Given the description of an element on the screen output the (x, y) to click on. 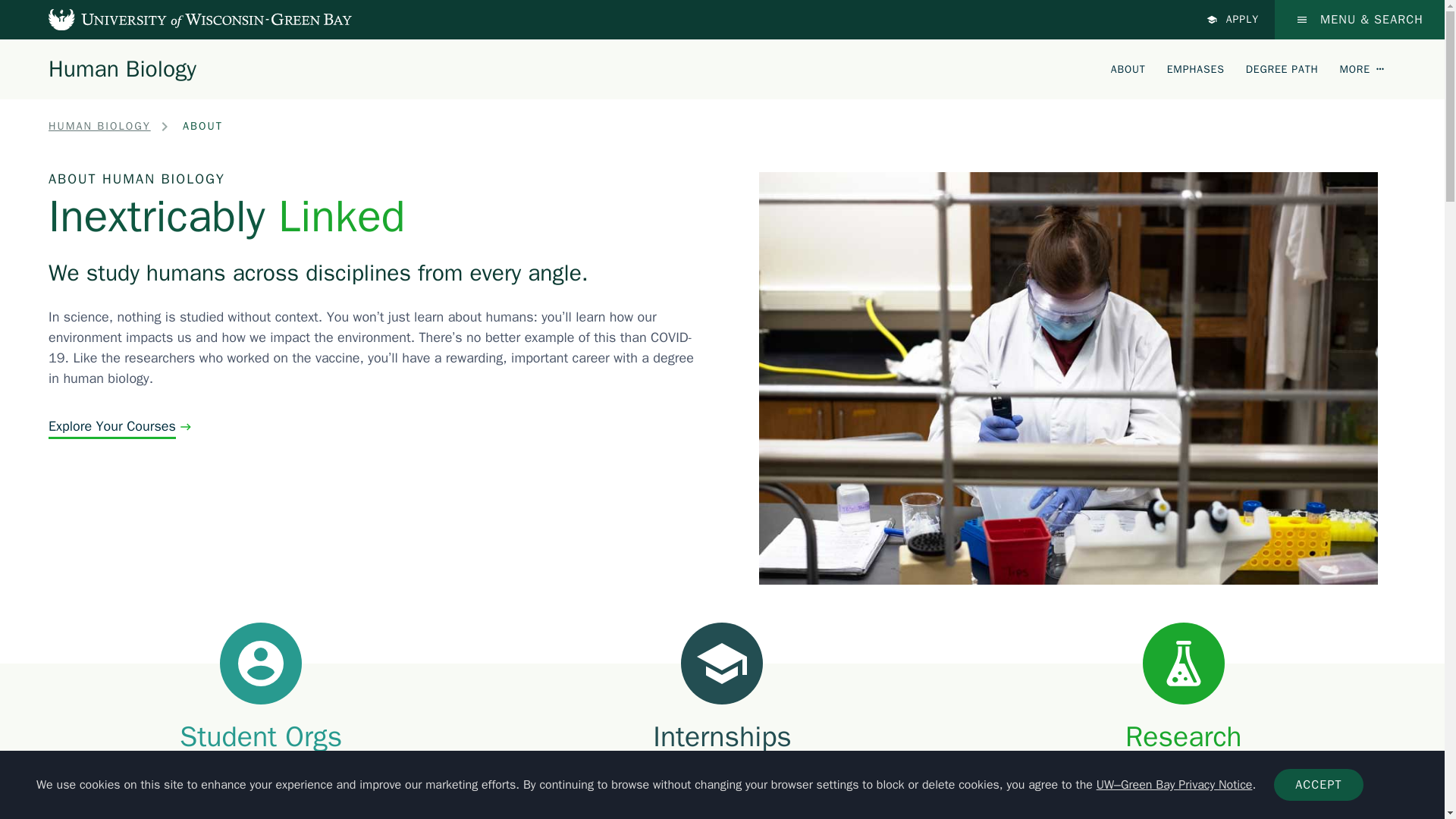
DEGREE PATH (1282, 68)
ABOUT (1127, 68)
Accept (1318, 784)
MORE (1362, 68)
APPLY (1233, 19)
EMPHASES (1195, 68)
Human Biology (122, 68)
